Given the description of an element on the screen output the (x, y) to click on. 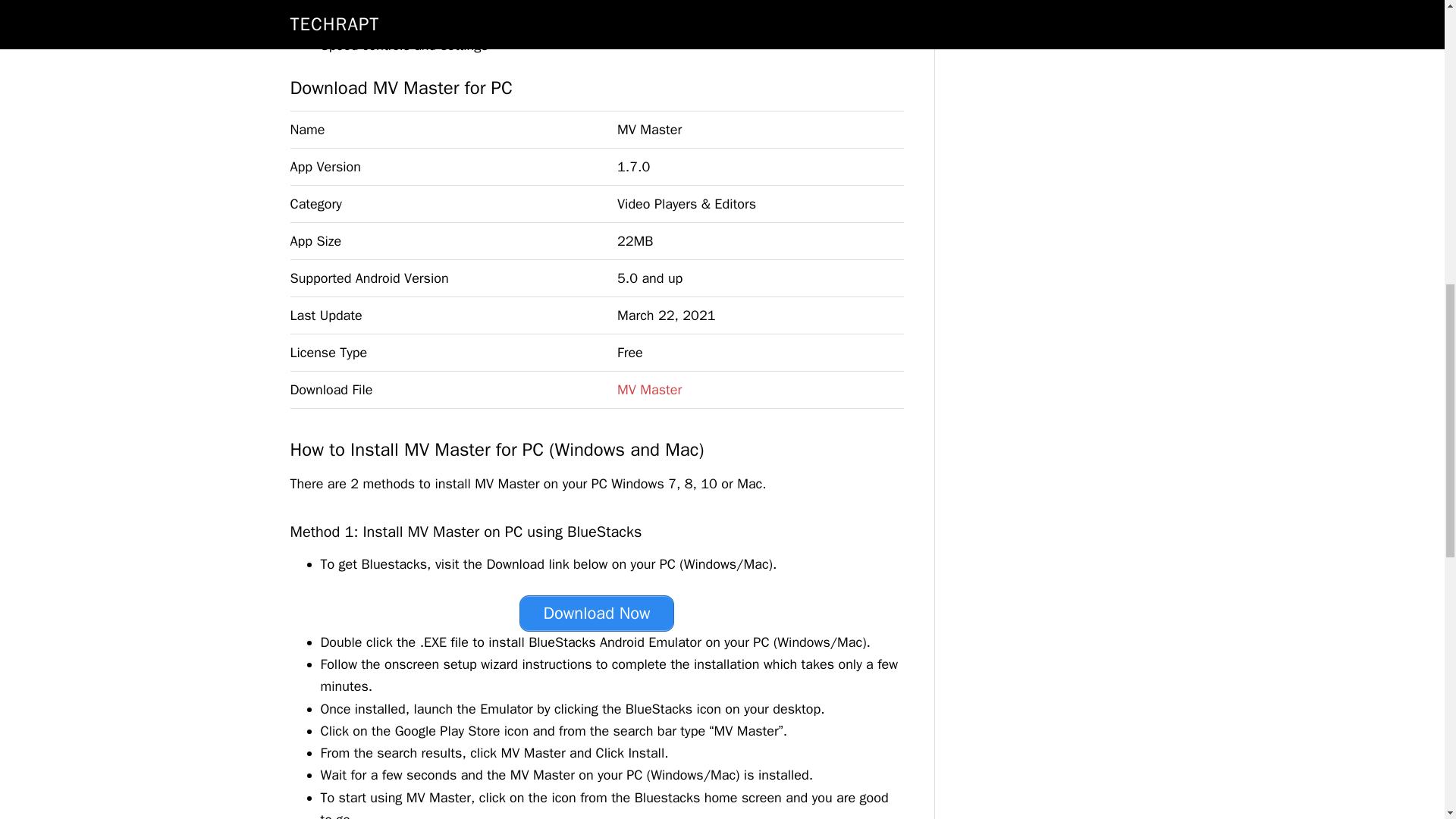
MV Master (649, 389)
Download Now (595, 613)
Advertisement (1058, 43)
